Given the description of an element on the screen output the (x, y) to click on. 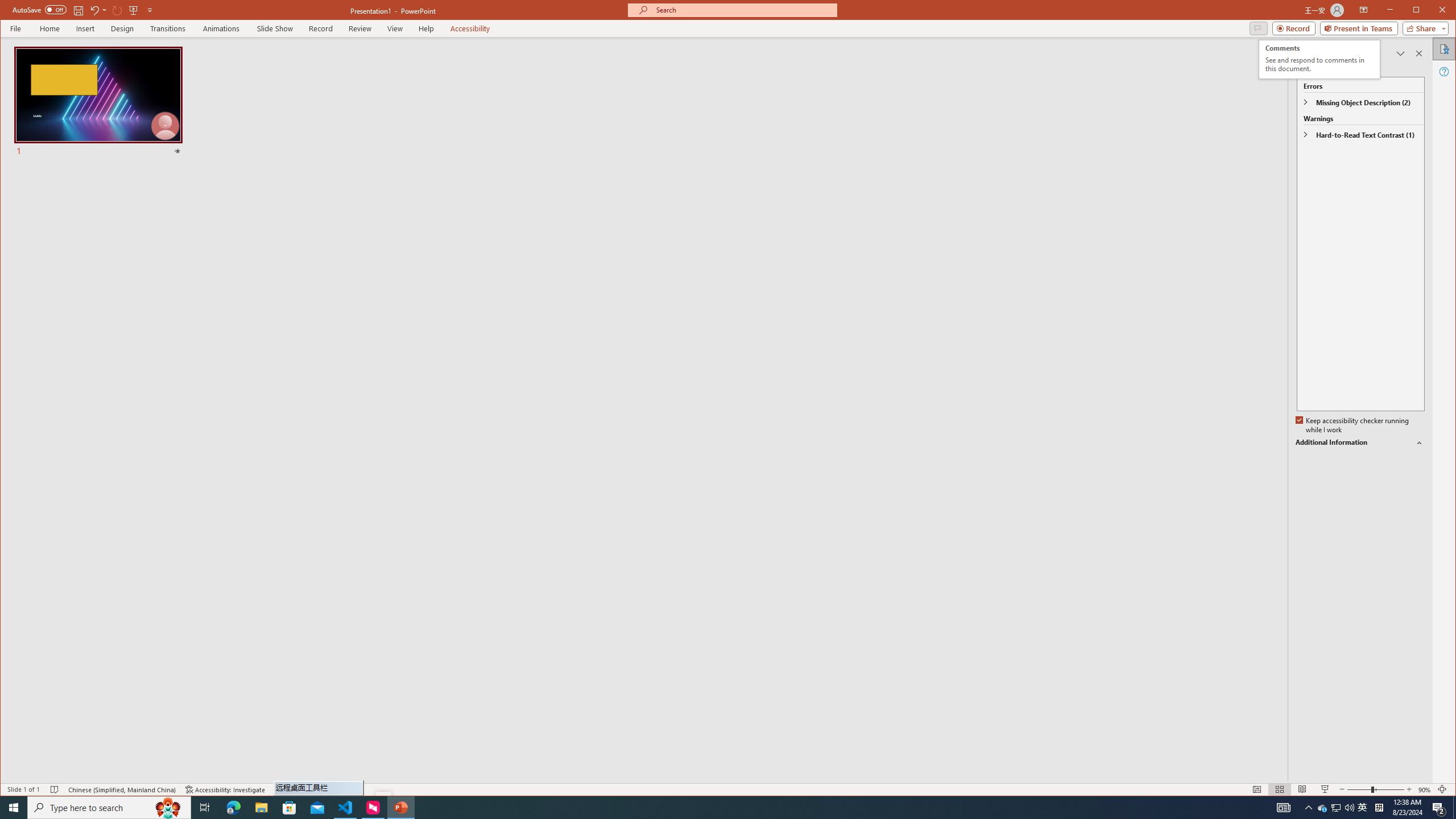
Visual Studio Code - 1 running window (345, 807)
Keep accessibility checker running while I work (1352, 425)
Running applications (700, 807)
File Explorer (261, 807)
